Given the description of an element on the screen output the (x, y) to click on. 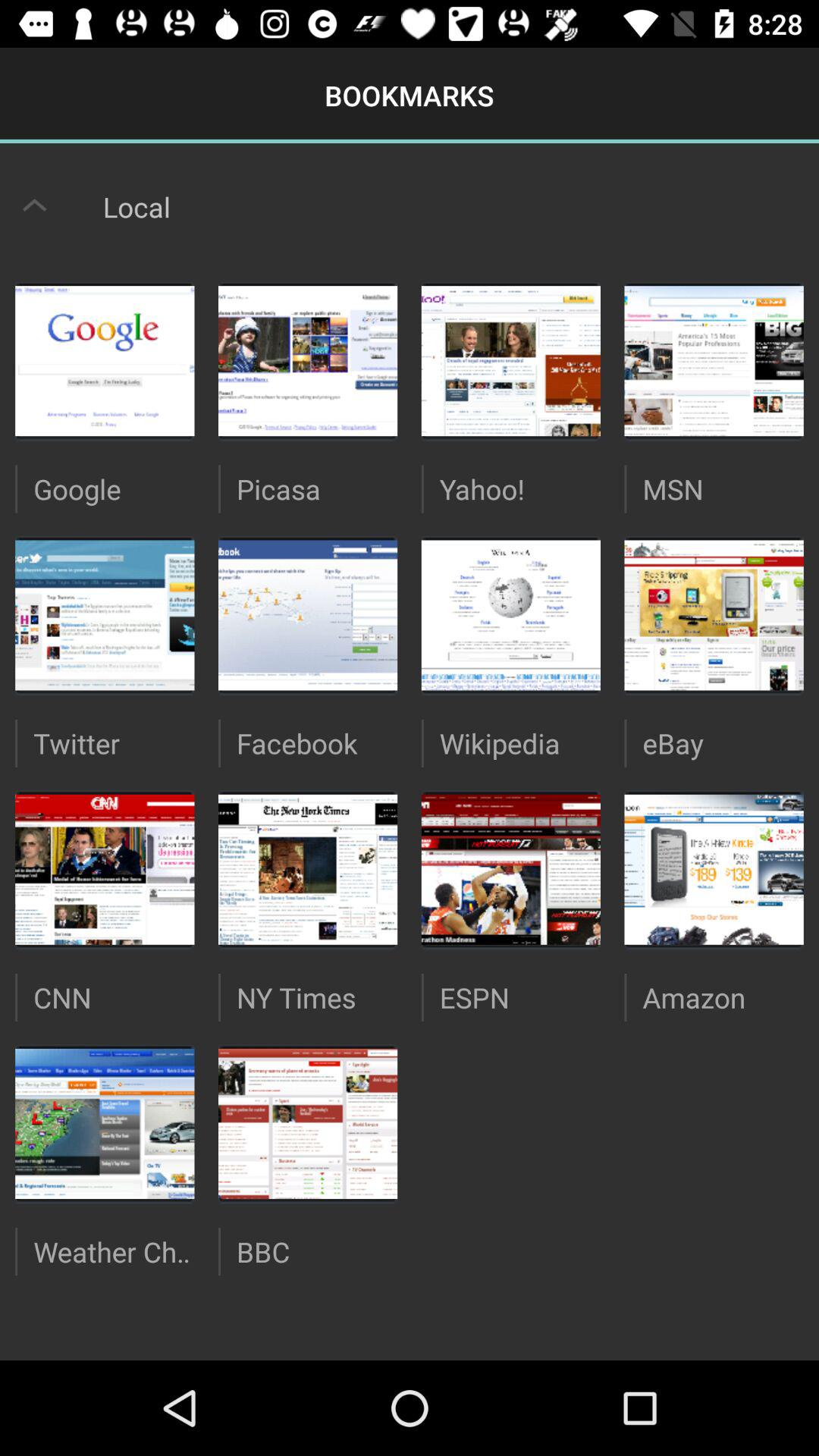
click the yahoo image (510, 361)
